Given the description of an element on the screen output the (x, y) to click on. 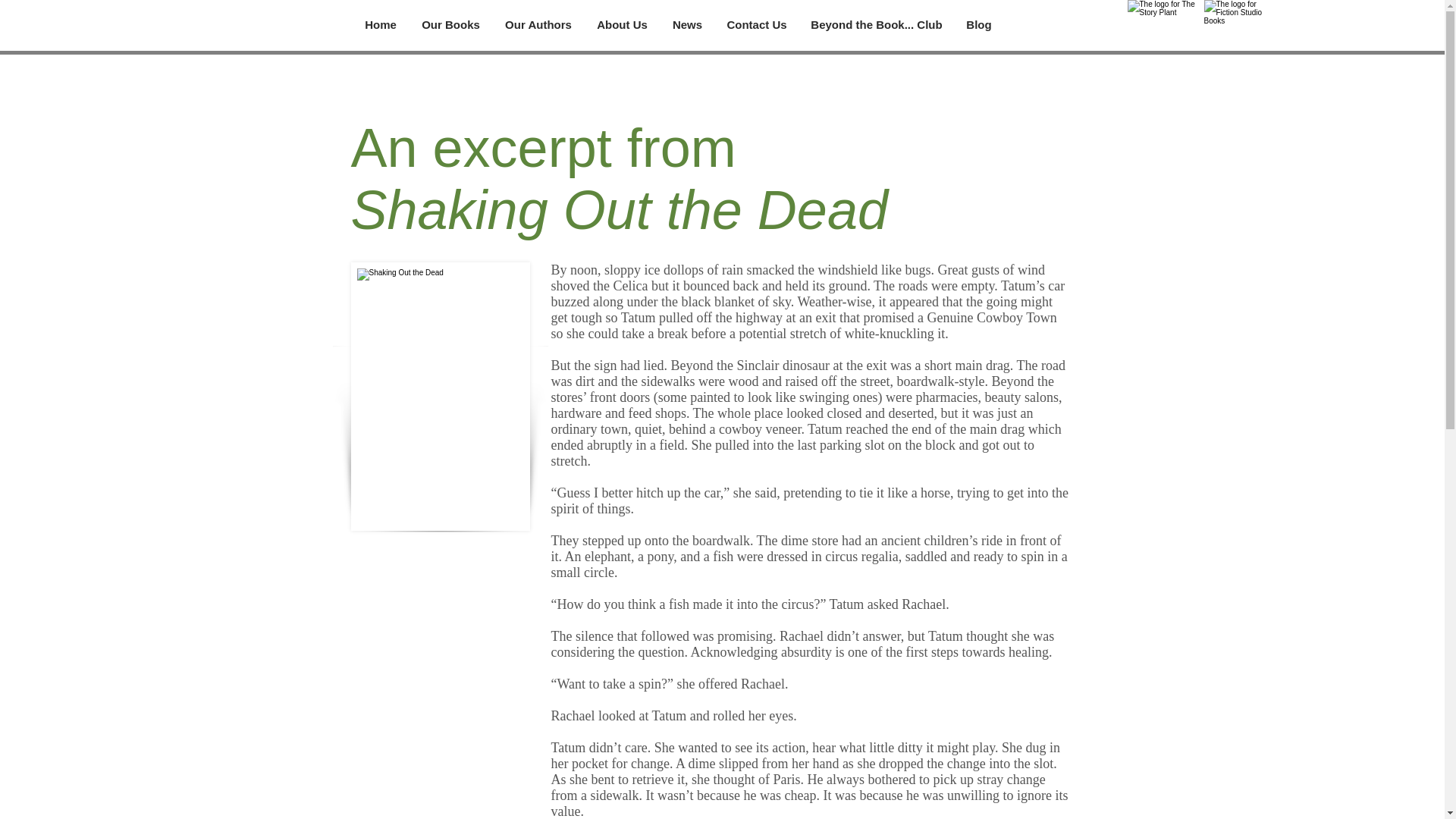
About Us (621, 24)
Contact Us (755, 24)
Our Books (451, 24)
Blog (978, 24)
News (686, 24)
Home (380, 24)
Beyond the Book... Club (877, 24)
Our Authors (539, 24)
